Given the description of an element on the screen output the (x, y) to click on. 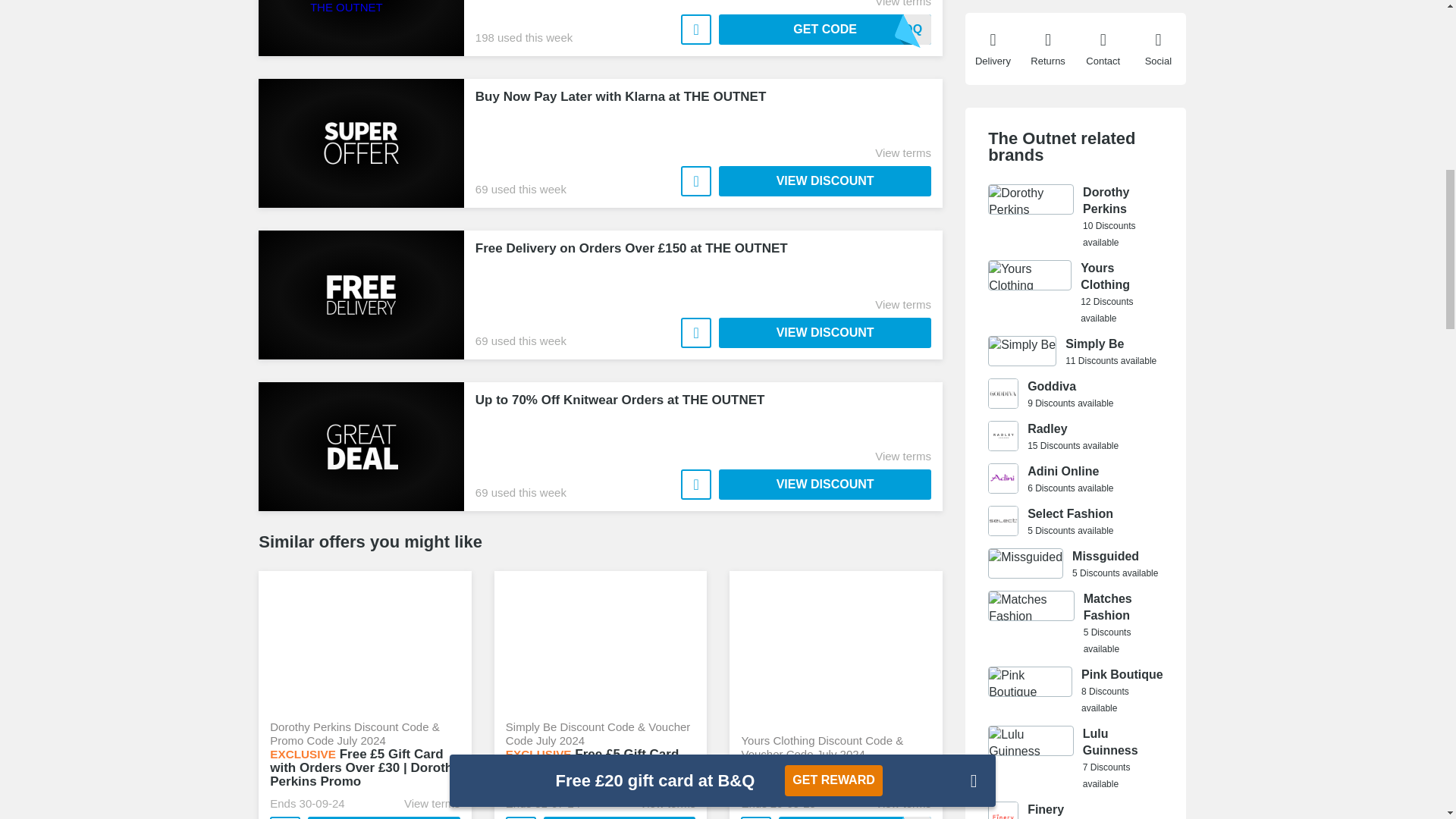
Buy Now Pay Later with Klarna at THE OUTNET (825, 181)
